Given the description of an element on the screen output the (x, y) to click on. 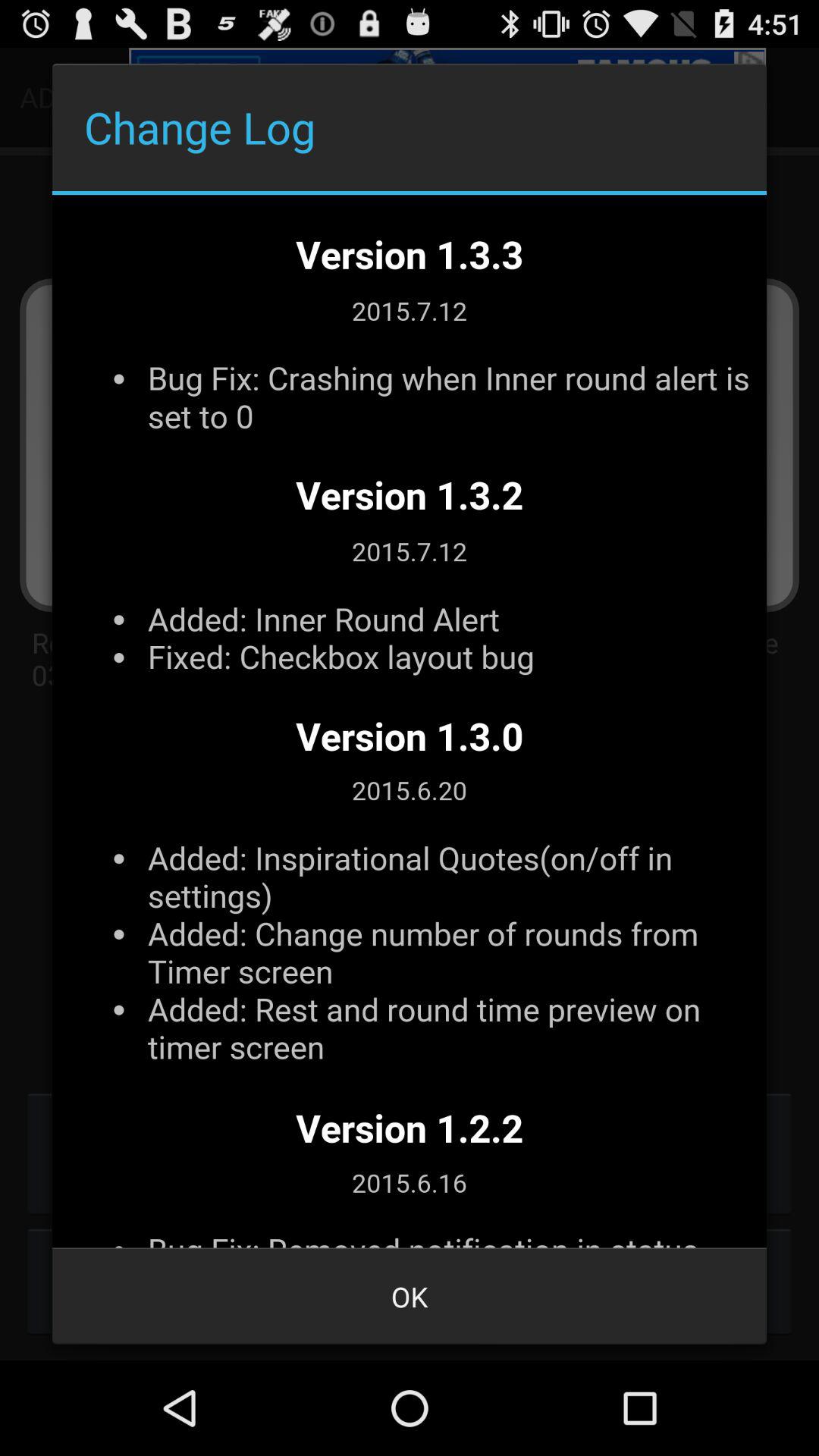
information (409, 721)
